Given the description of an element on the screen output the (x, y) to click on. 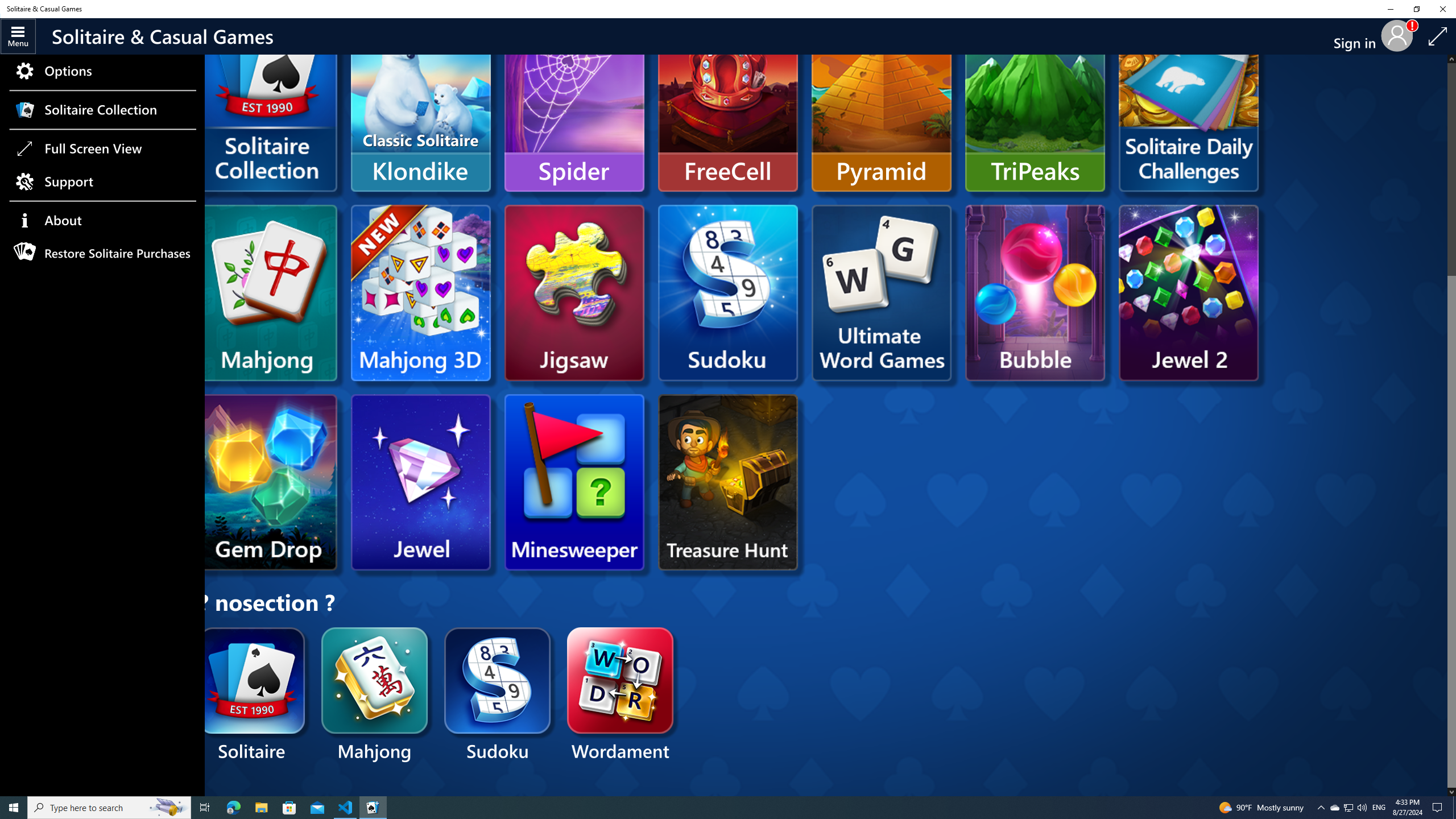
Microsoft Jewel (420, 481)
Microsoft Mahjong (271, 292)
Pyramid (881, 103)
Wordament (620, 695)
Close Solitaire & Casual Games (1442, 9)
Spider (574, 103)
Sign in (1358, 36)
Microsoft Treasure Hunt (727, 481)
Solitaire (252, 695)
Solitaire Collection (102, 109)
Microsoft Minesweeper (574, 481)
